Given the description of an element on the screen output the (x, y) to click on. 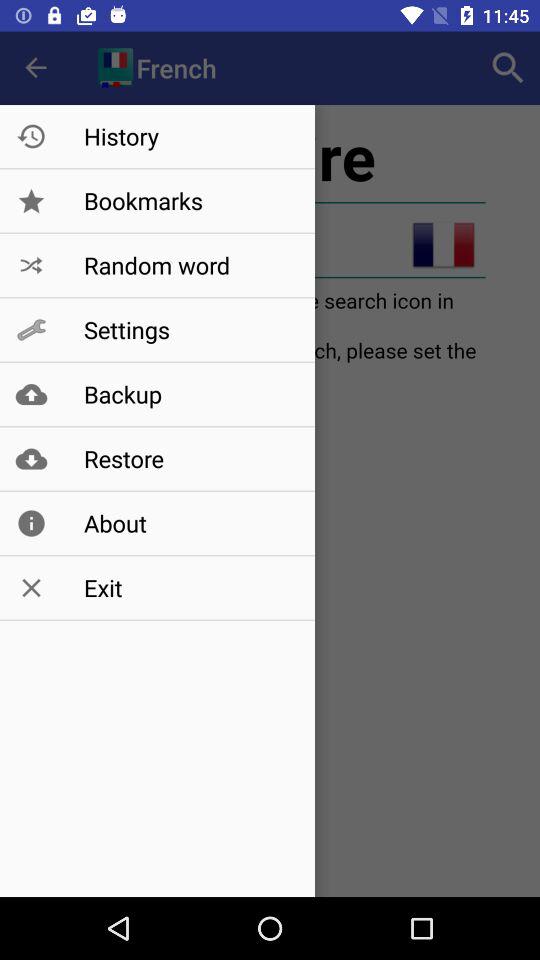
flip to the restore item (188, 458)
